Given the description of an element on the screen output the (x, y) to click on. 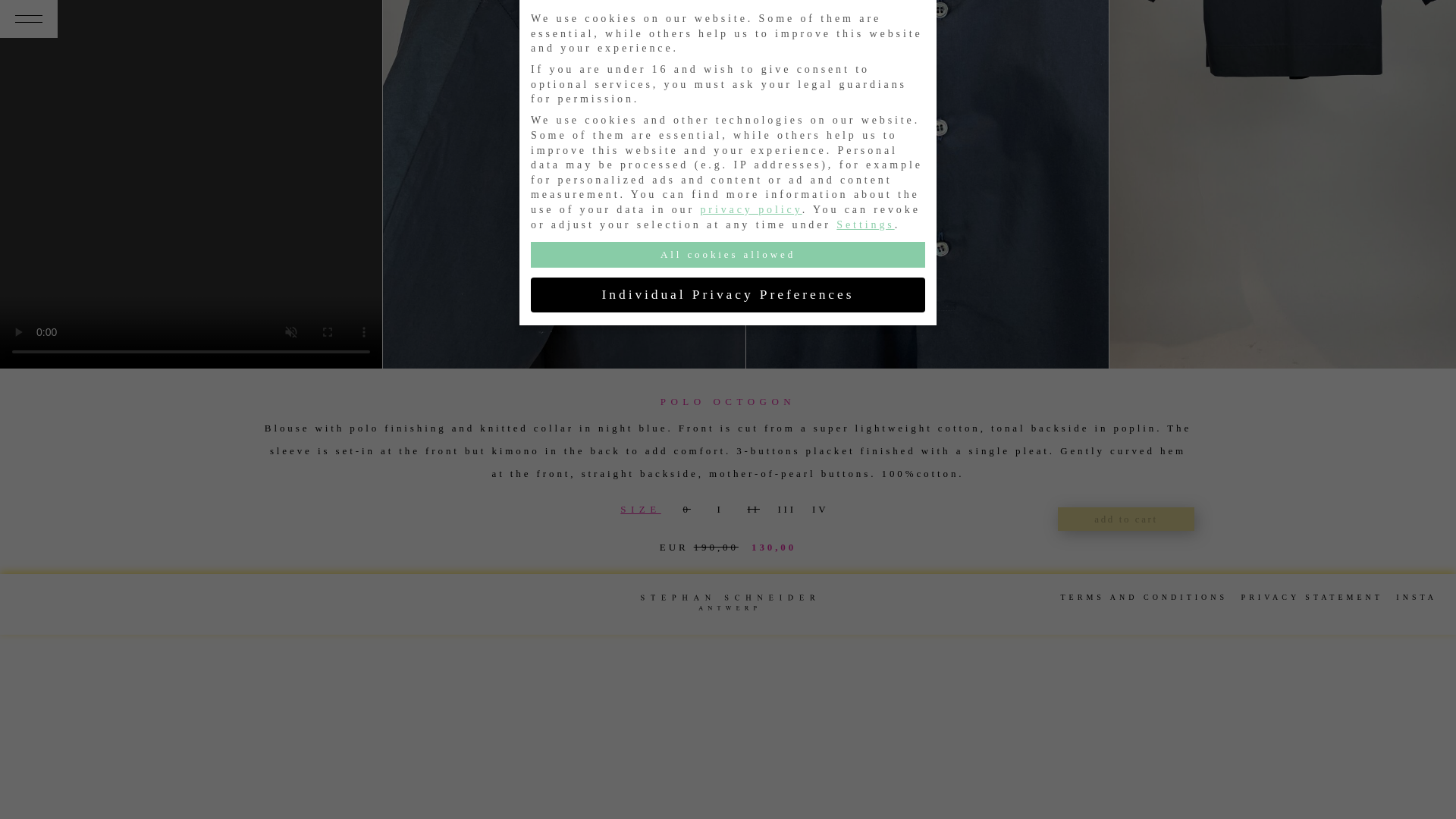
0 (684, 509)
III (785, 509)
add to cart (1125, 518)
I (718, 509)
INSTA (1416, 596)
PRIVACY STATEMENT (1312, 596)
TERMS AND CONDITIONS (1144, 596)
SIZE (640, 509)
IV (818, 509)
II (751, 509)
